Given the description of an element on the screen output the (x, y) to click on. 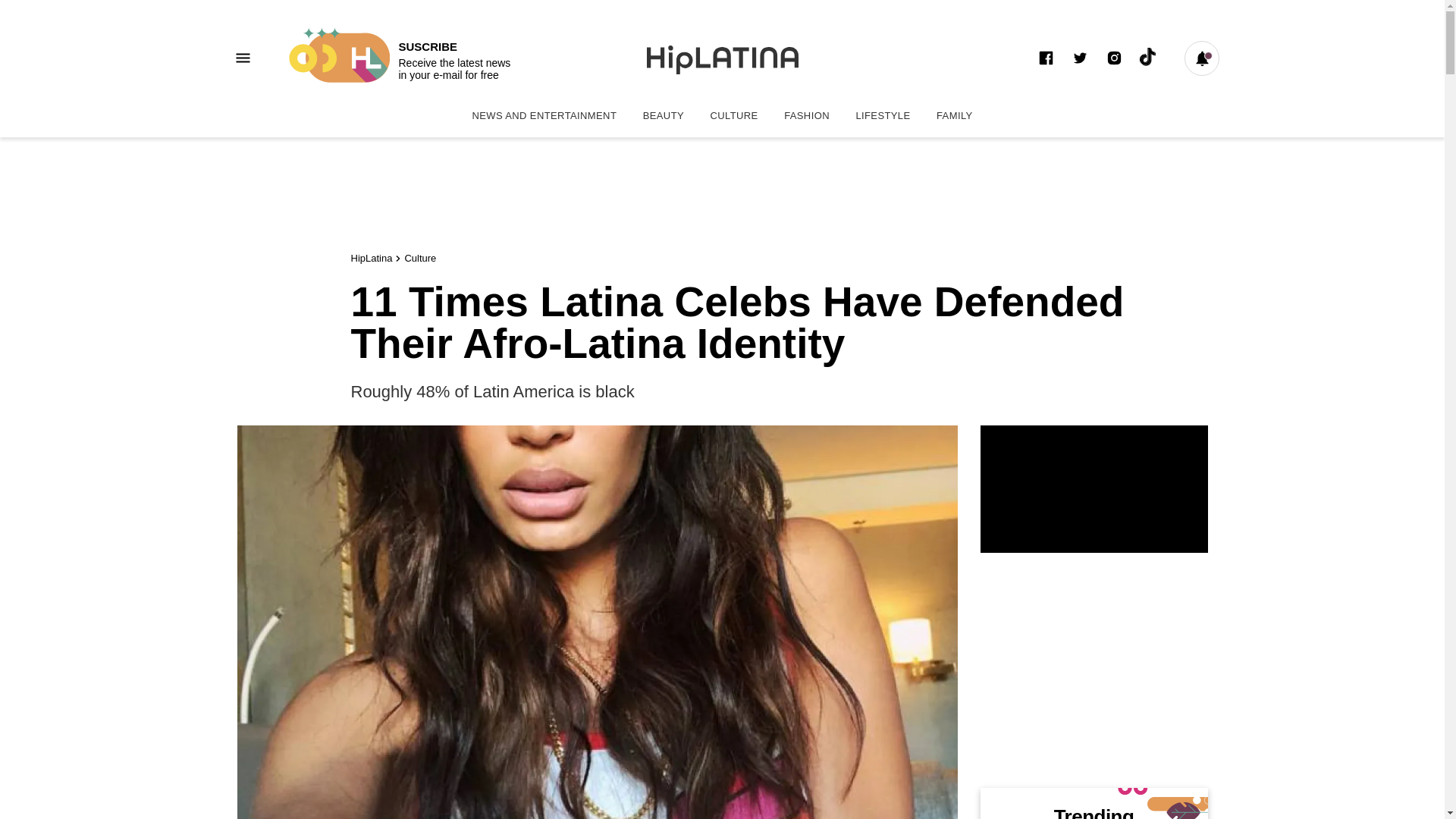
NEWS AND ENTERTAINMENT (543, 115)
FASHION (807, 115)
BEAUTY (397, 57)
FAMILY (663, 115)
HipLatina (954, 115)
Culture (370, 258)
Fashion (419, 258)
LIFESTYLE (807, 115)
News and Entertainment (882, 115)
